Given the description of an element on the screen output the (x, y) to click on. 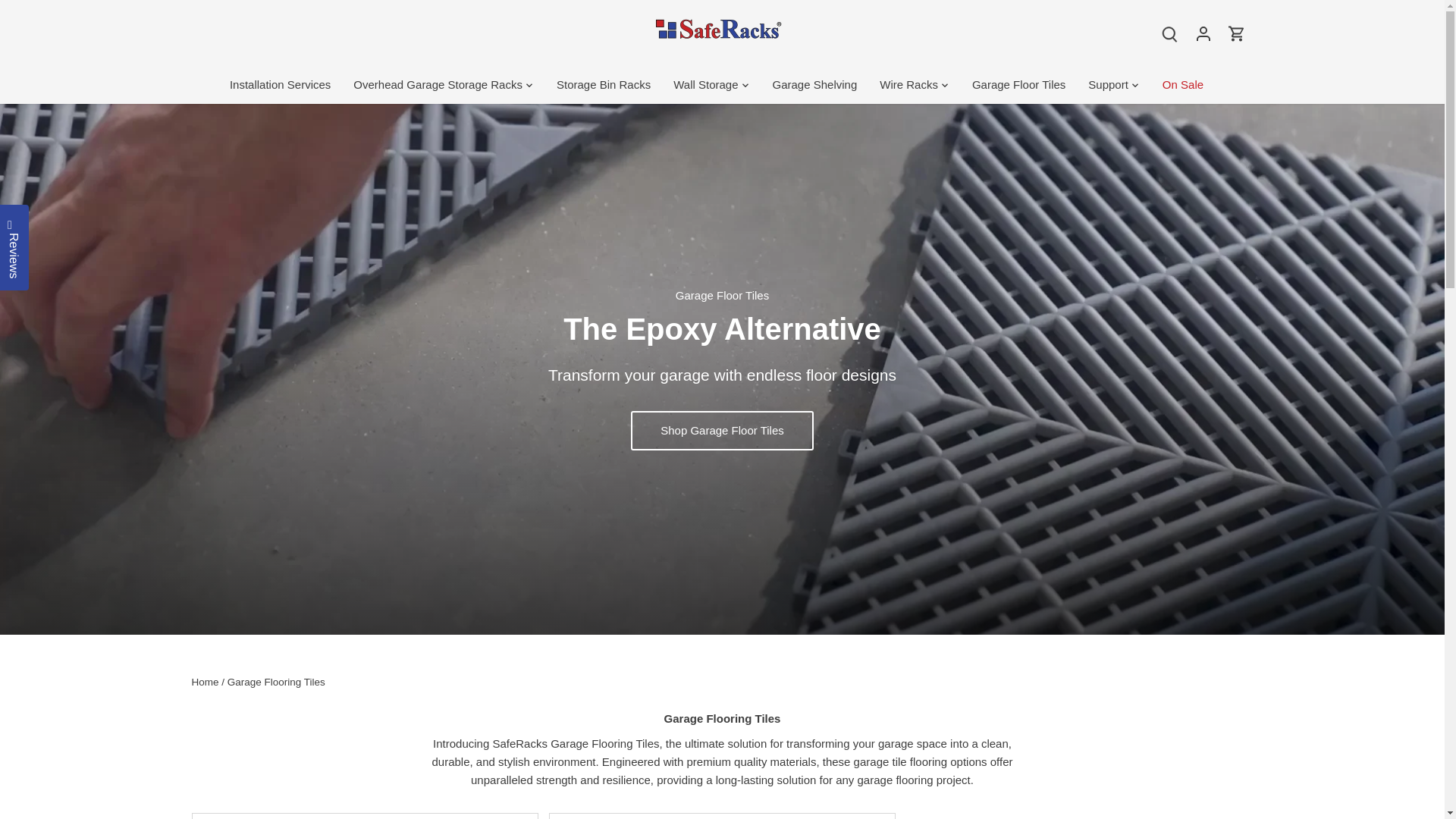
Shop Garage Floor Tiles (721, 430)
Garage Floor Tiles (1018, 85)
Support (1108, 85)
Storage Bin Racks (603, 85)
Wire Racks (908, 85)
Garage Shelving (815, 85)
Installation Services (286, 85)
Overhead Garage Storage Racks (438, 85)
Wall Storage (705, 85)
On Sale (1182, 85)
